Given the description of an element on the screen output the (x, y) to click on. 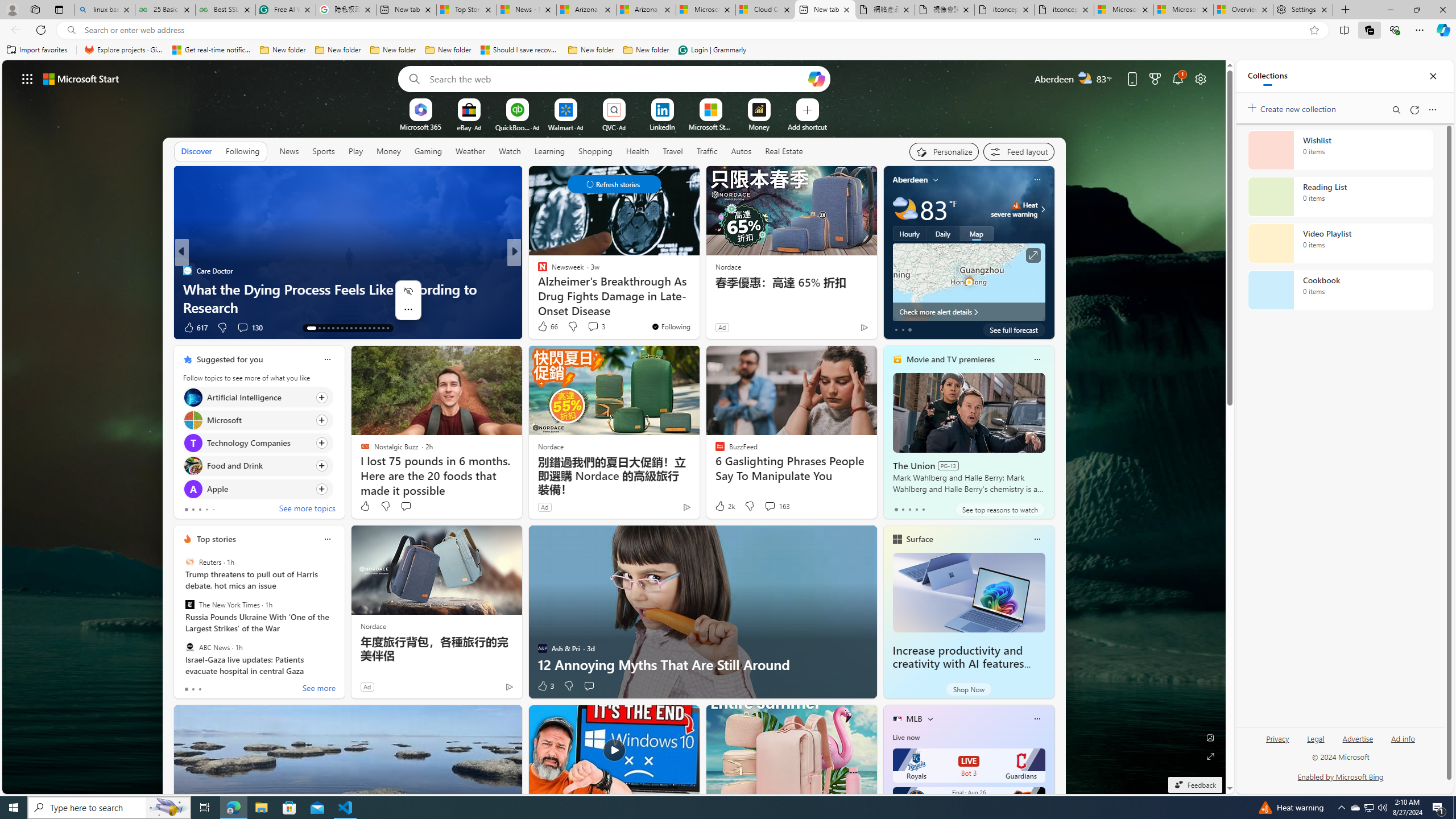
AutomationID: tab-27 (378, 328)
Eco Hugo (537, 270)
View comments 16 Comment (597, 327)
View comments 16 Comment (592, 327)
Enter your search term (617, 78)
Overview (1243, 9)
Food & Wine (537, 270)
Personalize your feed" (943, 151)
Top Stories - MSN (466, 9)
AutomationID: tab-19 (342, 328)
AutomationID: tab-18 (337, 328)
2k Like (724, 505)
AutomationID: tab-16 (328, 328)
